Given the description of an element on the screen output the (x, y) to click on. 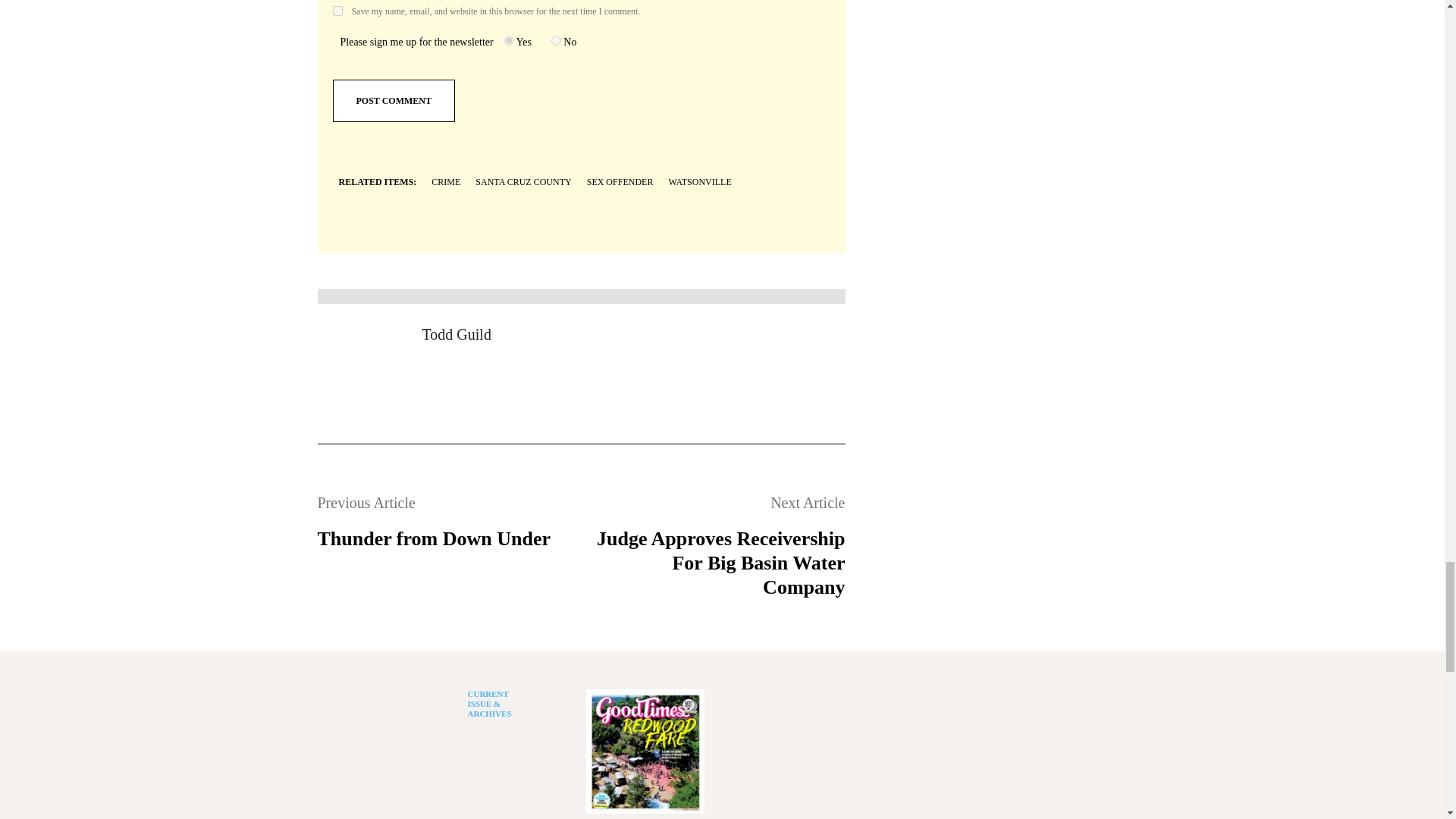
Yes (508, 40)
yes (336, 10)
No (555, 40)
Post Comment (392, 100)
